Given the description of an element on the screen output the (x, y) to click on. 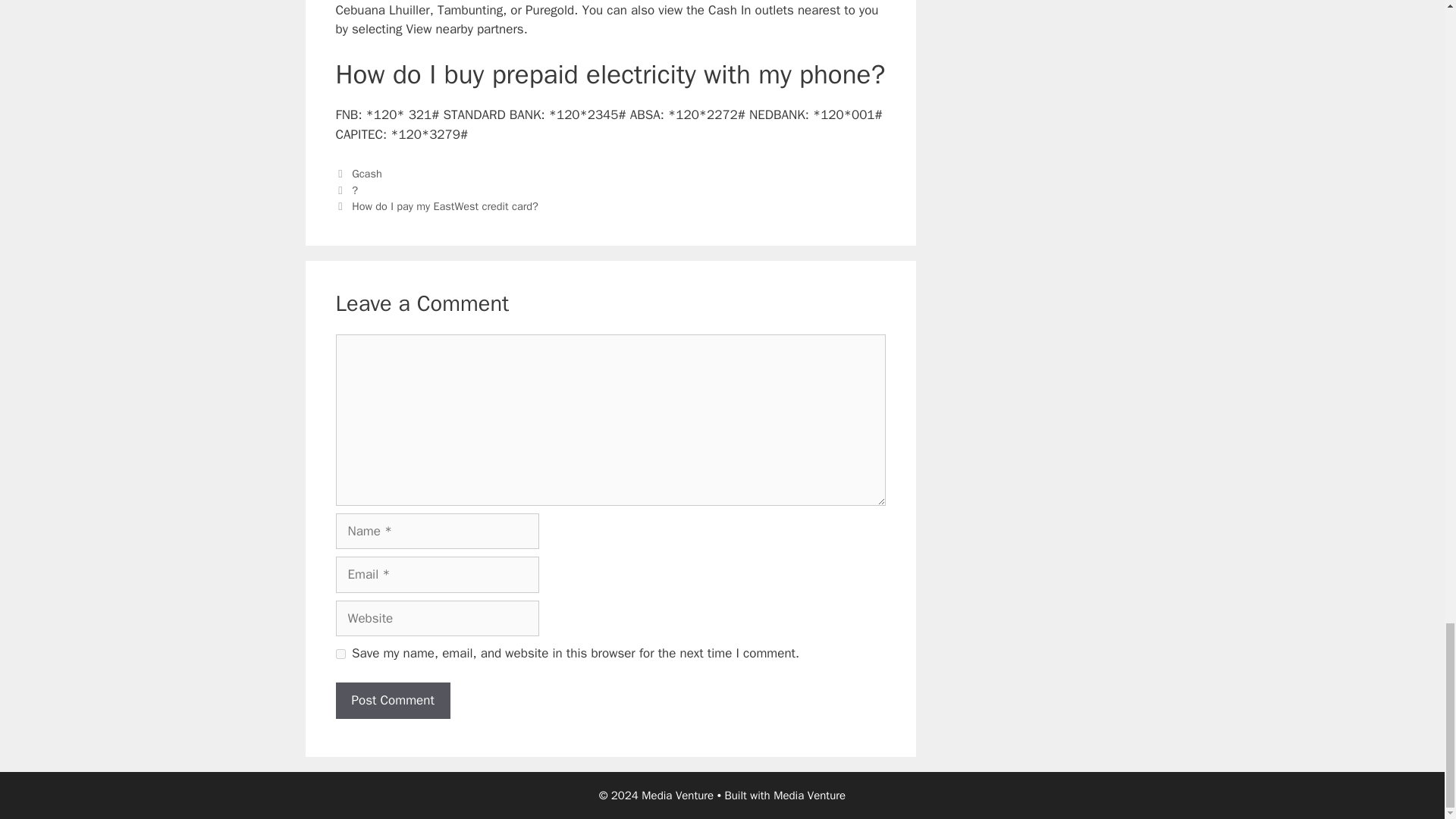
Media Venture (809, 795)
Post Comment (391, 700)
Post Comment (391, 700)
yes (339, 654)
Gcash (366, 173)
How do I pay my EastWest credit card? (445, 205)
